Given the description of an element on the screen output the (x, y) to click on. 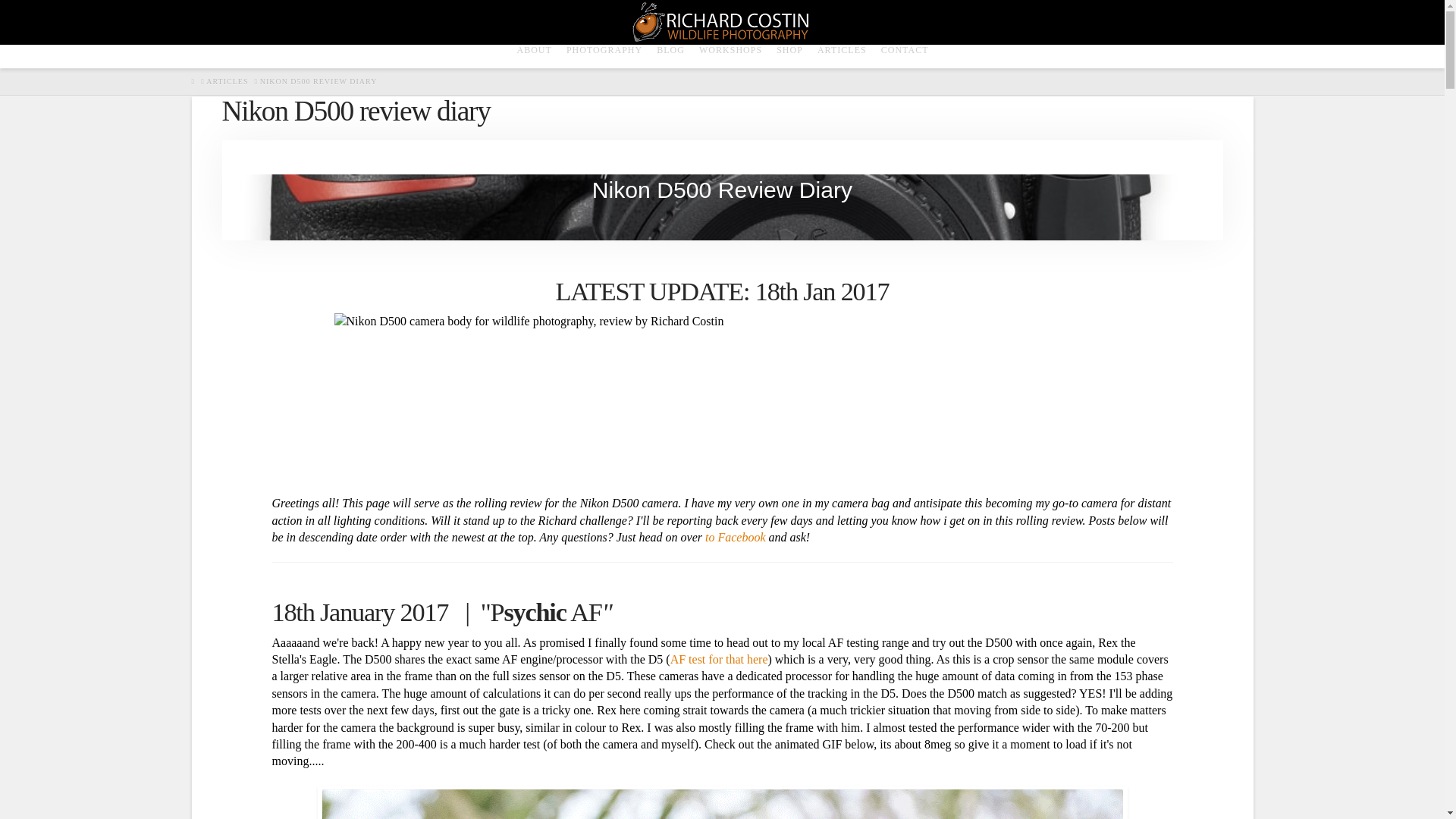
ARTICLES (226, 81)
to Facebook (734, 536)
CONTACT (904, 56)
NIKON D500 REVIEW DIARY (318, 81)
WORKSHOPS (729, 56)
SHOP (788, 56)
You Are Here (318, 81)
ABOUT (532, 56)
PHOTOGRAPHY (604, 56)
BLOG (670, 56)
ARTICLES (841, 56)
AF test for that here (718, 658)
